Given the description of an element on the screen output the (x, y) to click on. 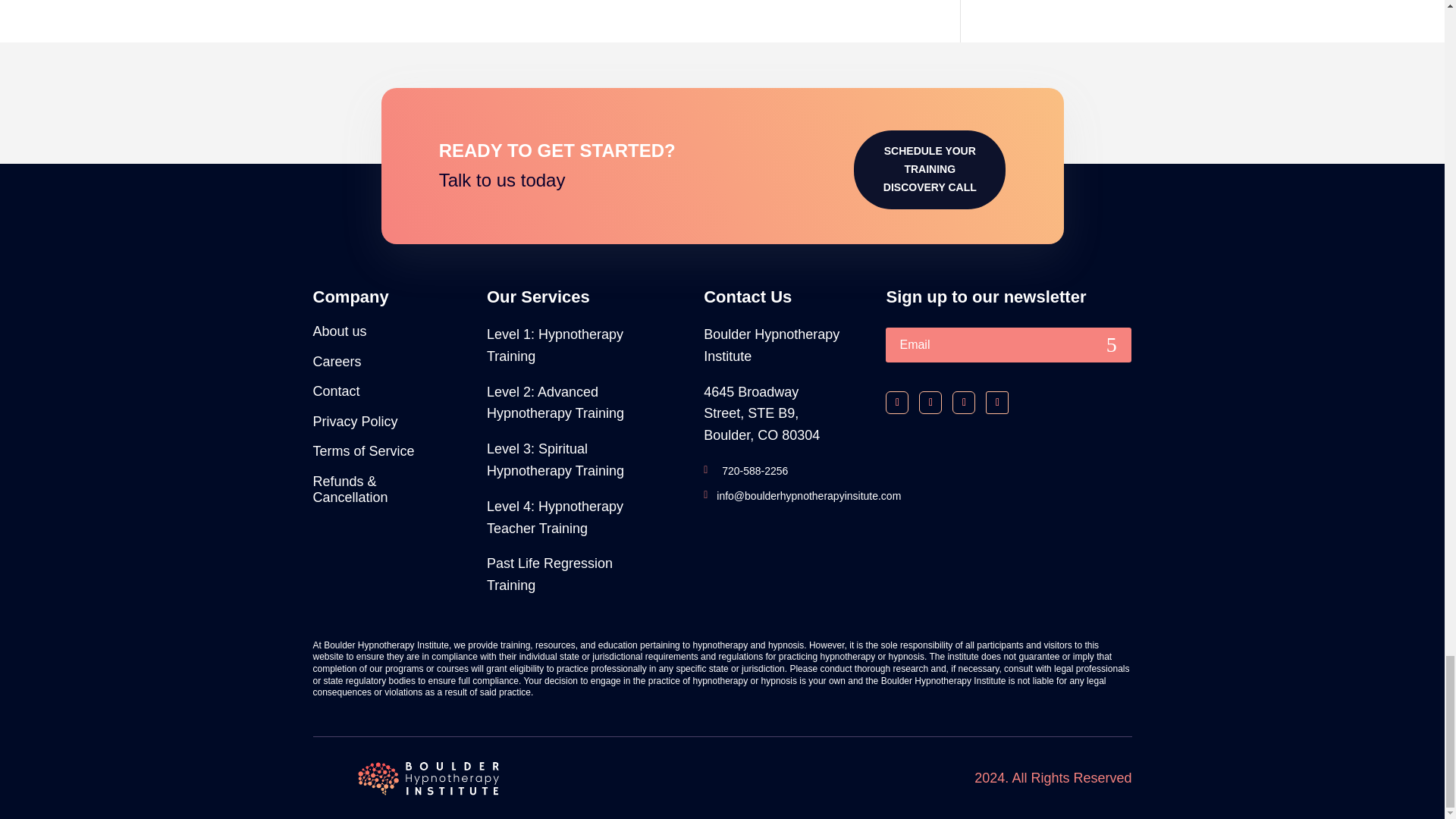
Follow on X (997, 402)
Follow on Facebook (896, 402)
Follow on Instagram (930, 402)
Follow on LinkedIn (963, 402)
